Given the description of an element on the screen output the (x, y) to click on. 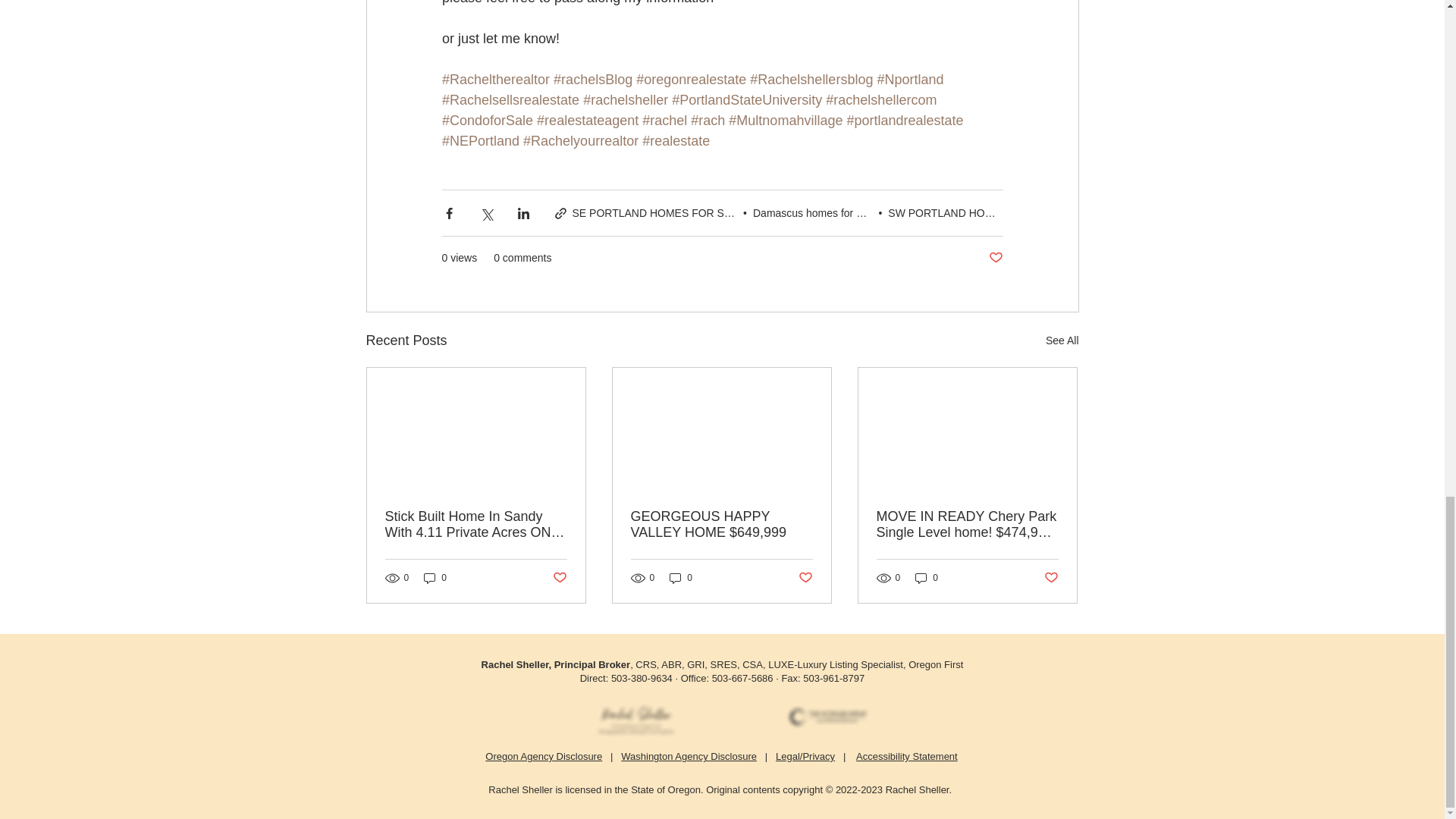
New Branding - Rachel.png (637, 719)
